Given the description of an element on the screen output the (x, y) to click on. 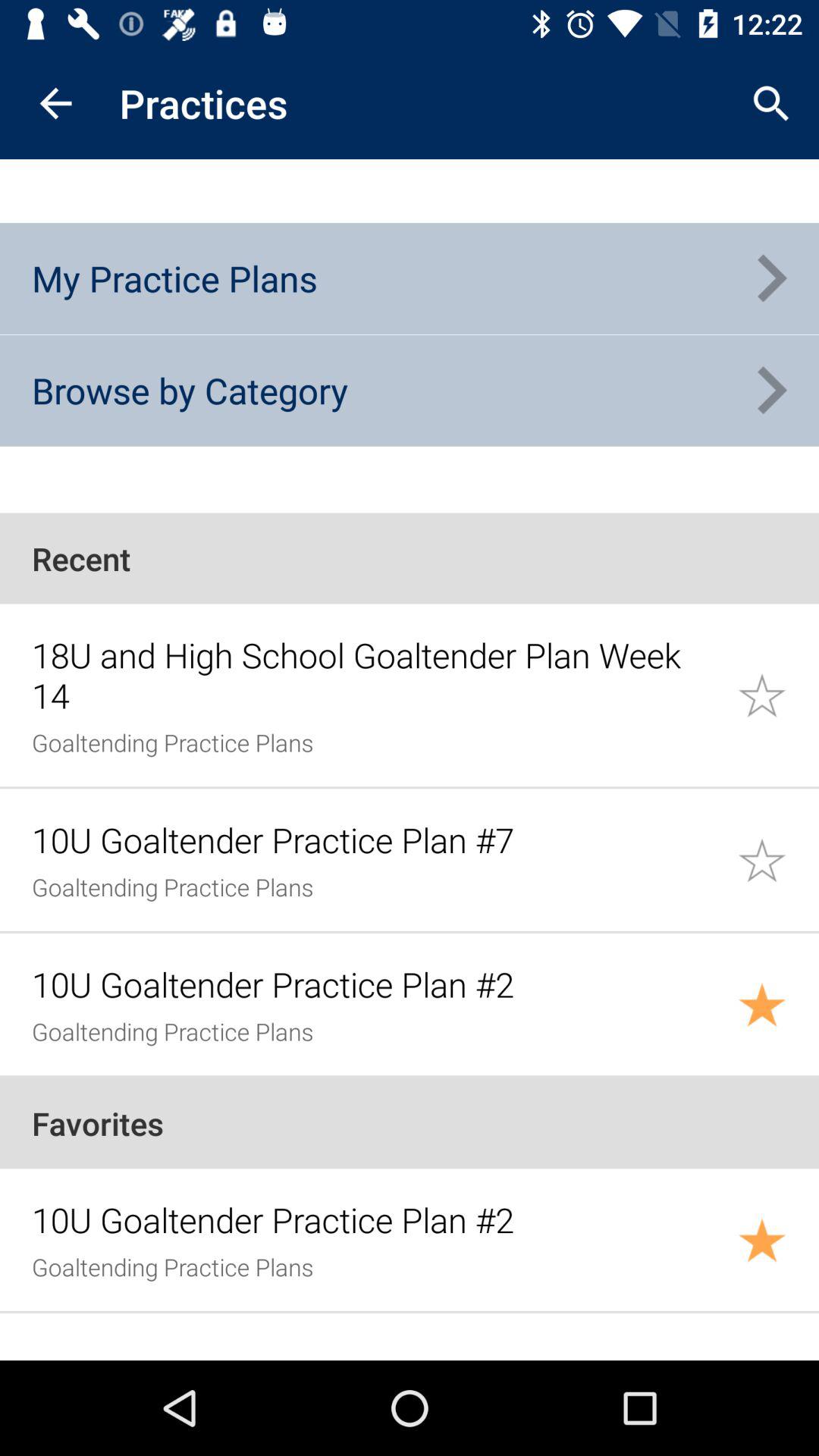
scroll to recent icon (409, 558)
